Given the description of an element on the screen output the (x, y) to click on. 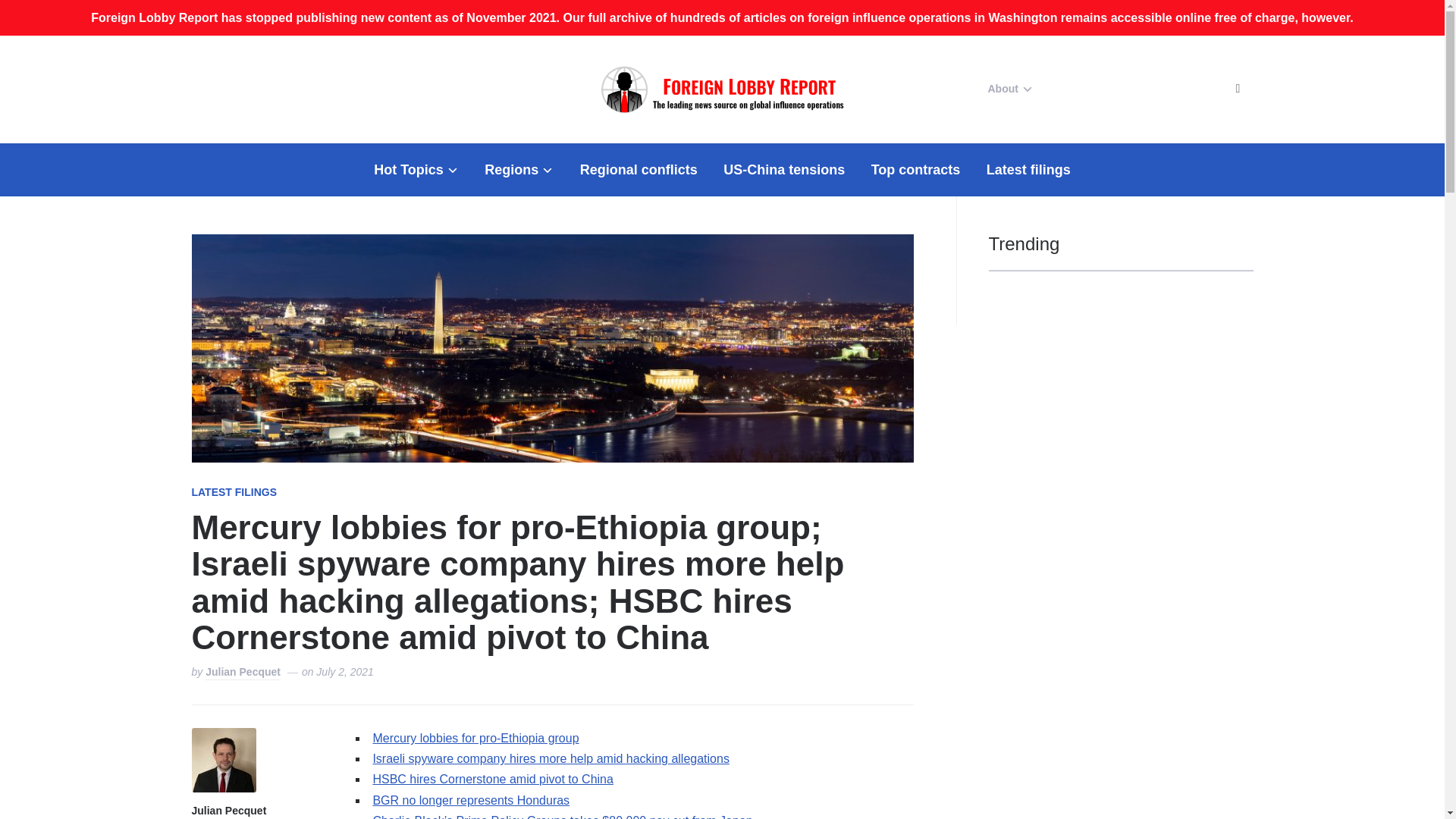
Hot Topics (416, 169)
About (1009, 89)
Posts by Julian Pecquet (228, 811)
Search (1237, 89)
Posts by Julian Pecquet (243, 672)
